Given the description of an element on the screen output the (x, y) to click on. 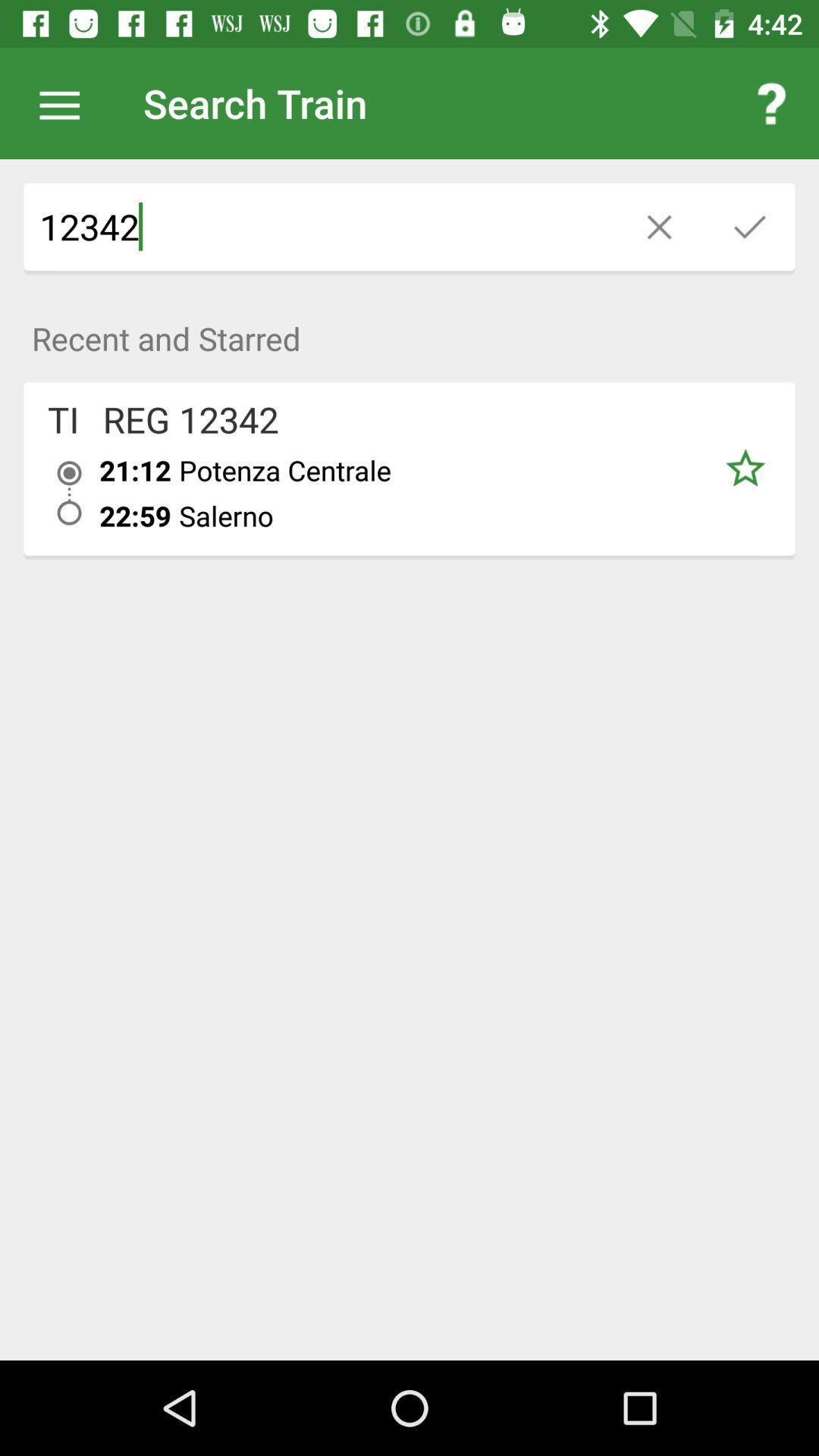
turn on icon below the ti item (69, 492)
